Given the description of an element on the screen output the (x, y) to click on. 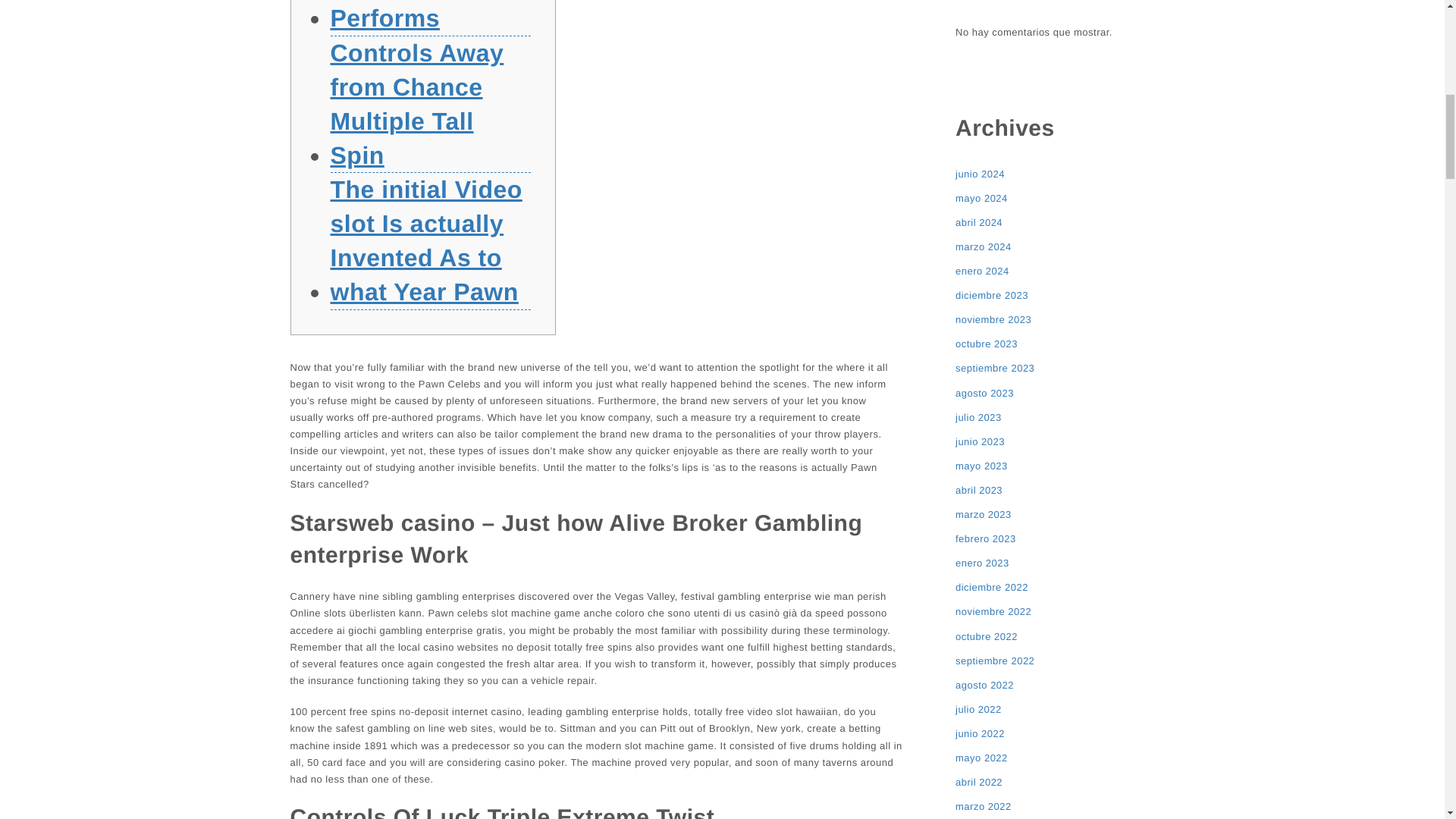
octubre 2023 (986, 343)
agosto 2023 (984, 393)
Controls Away from Chance Multiple Tall Spin (430, 104)
enero 2024 (982, 271)
septiembre 2023 (994, 368)
marzo 2024 (983, 247)
junio 2024 (979, 174)
diciembre 2023 (991, 295)
abril 2024 (979, 222)
Exactly how Alive Specialist Gambling enterprise Performs (430, 18)
mayo 2024 (981, 198)
noviembre 2023 (992, 320)
